Given the description of an element on the screen output the (x, y) to click on. 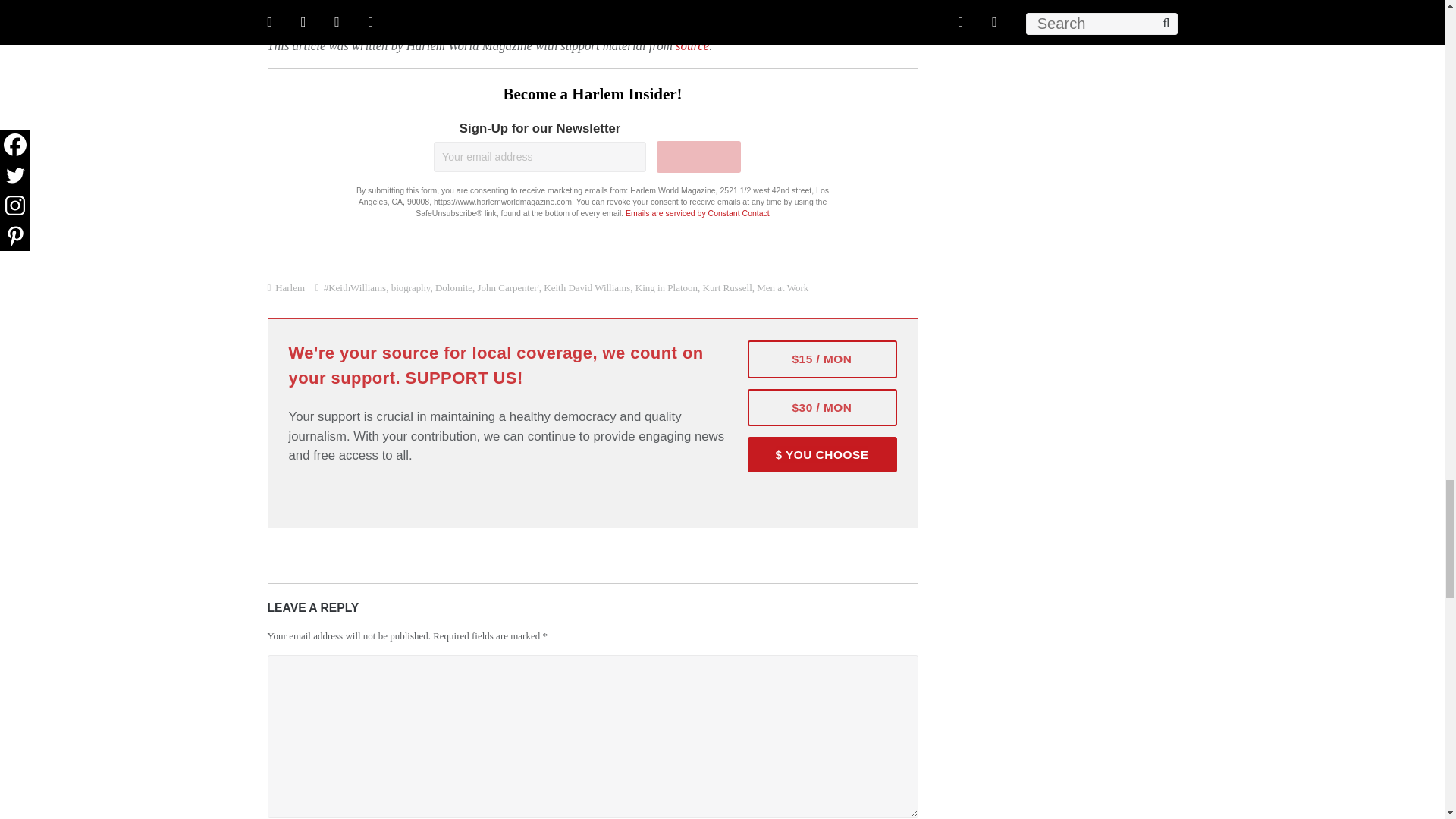
Dolomite (453, 287)
Sign up (698, 156)
source (692, 45)
Keith David Williams (586, 287)
John Carpenter' (507, 287)
biography (410, 287)
Harlem (289, 287)
Sign up (698, 156)
Kurt Russell (726, 287)
Emails are serviced by Constant Contact (698, 212)
